Given the description of an element on the screen output the (x, y) to click on. 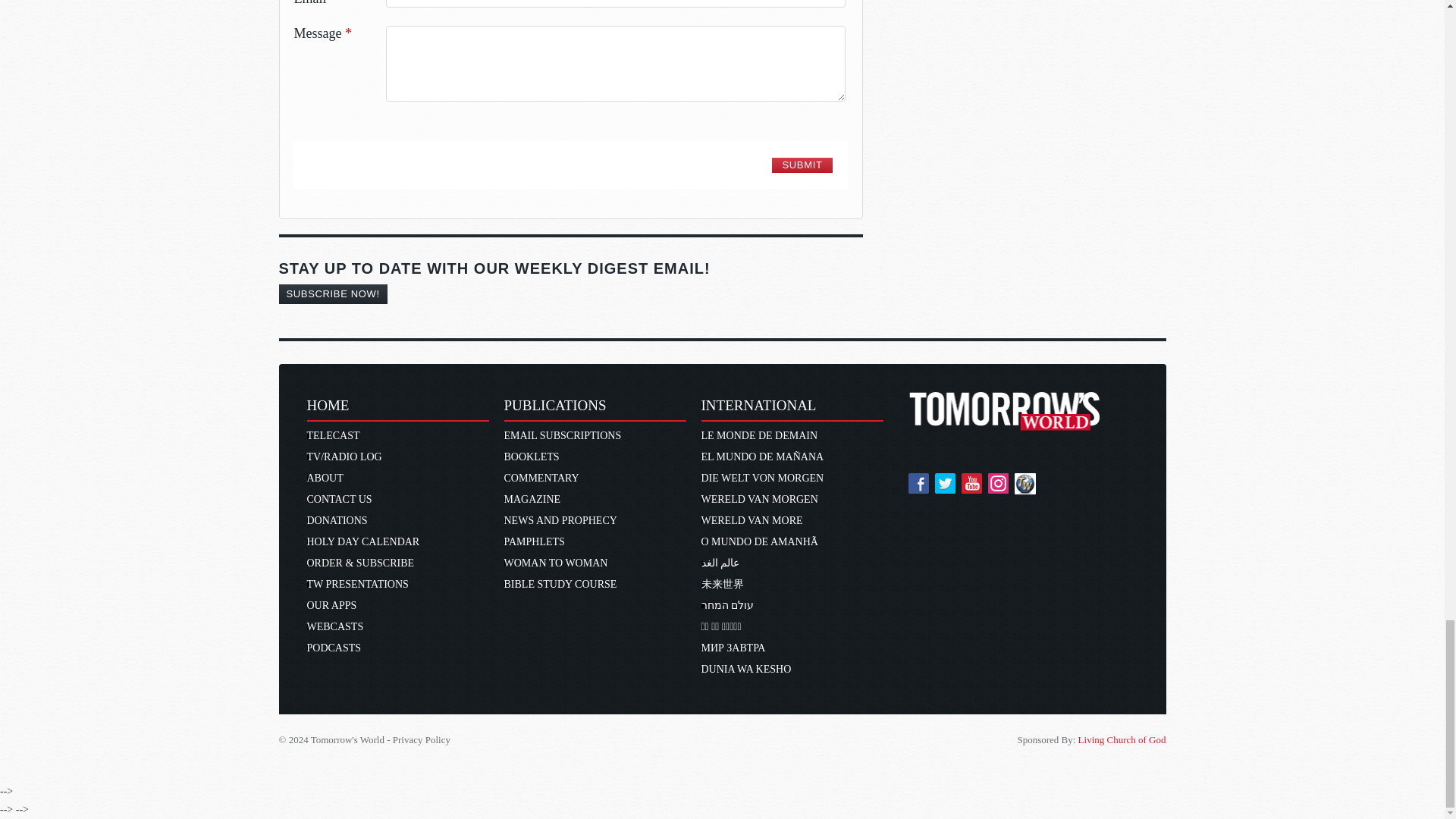
This field is required. (333, 2)
This field is required. (348, 32)
Submit (801, 165)
SUBSCRIBE NOW! (333, 293)
Submit (801, 165)
